Given the description of an element on the screen output the (x, y) to click on. 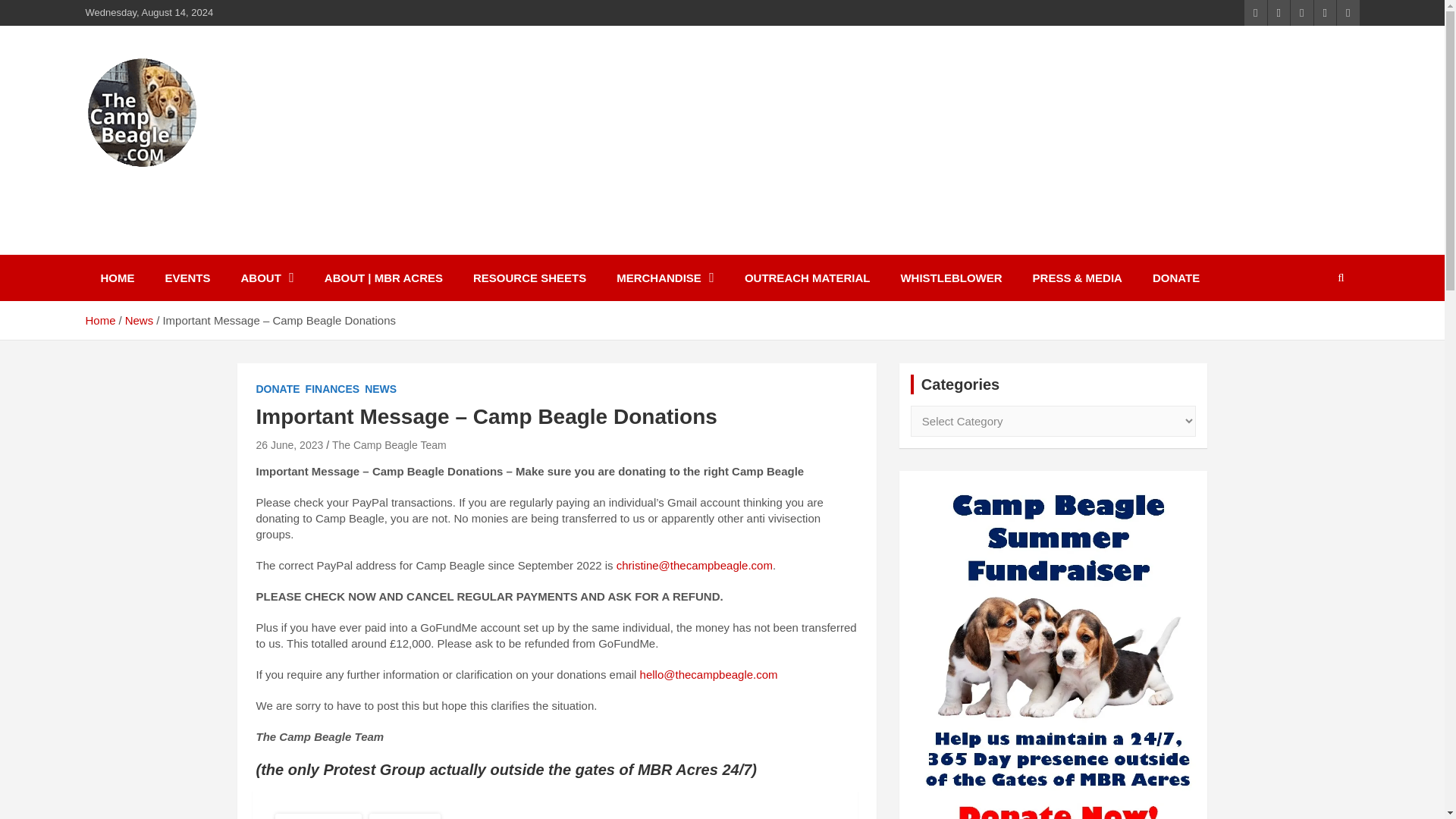
News (139, 319)
Home (99, 319)
FINANCES (332, 389)
DONATE (1175, 277)
The Camp Beagle (211, 188)
26 June, 2023 (289, 444)
MERCHANDISE (665, 277)
DONATE (277, 389)
OUTREACH MATERIAL (807, 277)
HOME (116, 277)
